Given the description of an element on the screen output the (x, y) to click on. 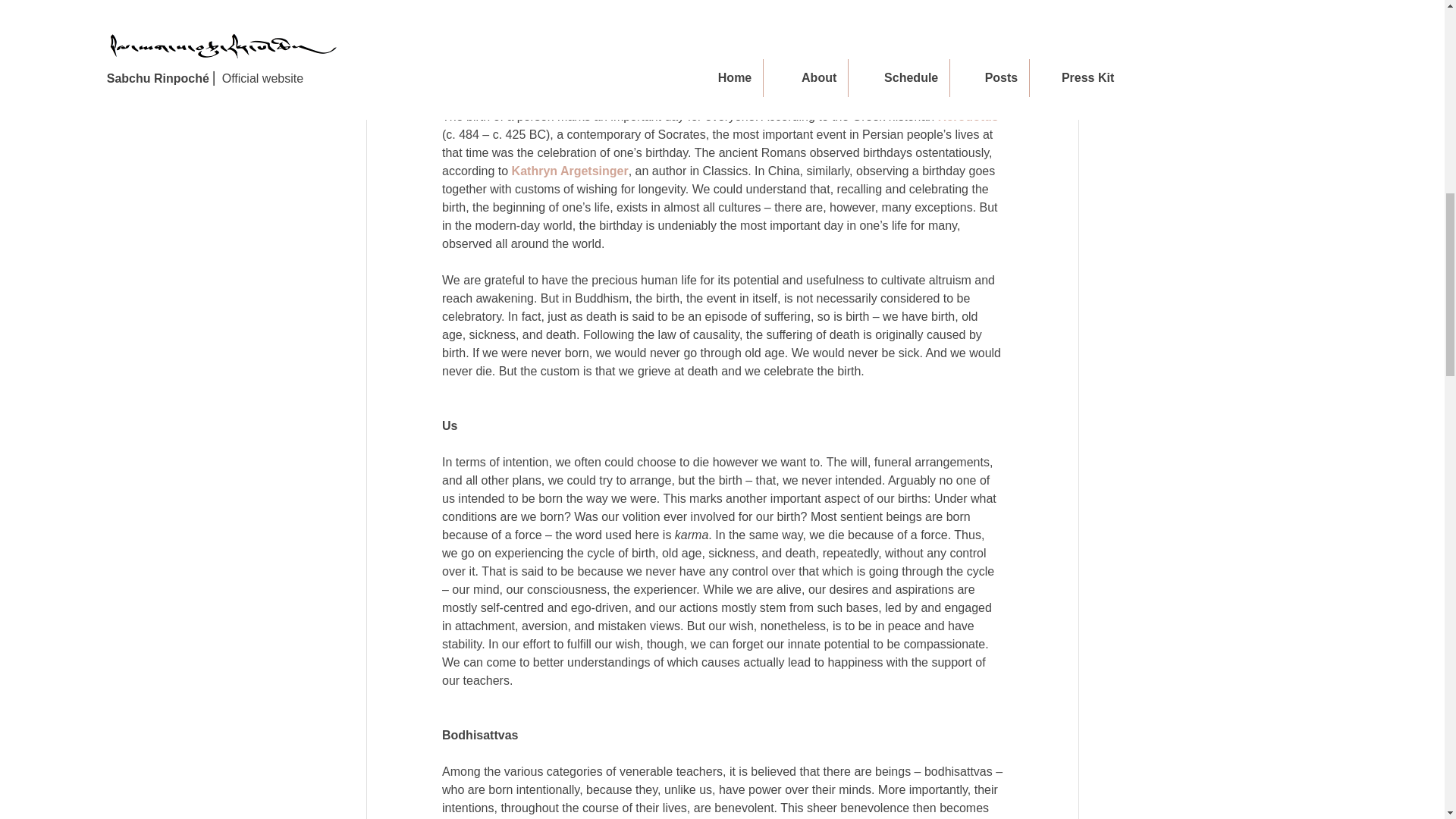
Herodotus (967, 115)
Kathryn Argetsinger (569, 170)
